Given the description of an element on the screen output the (x, y) to click on. 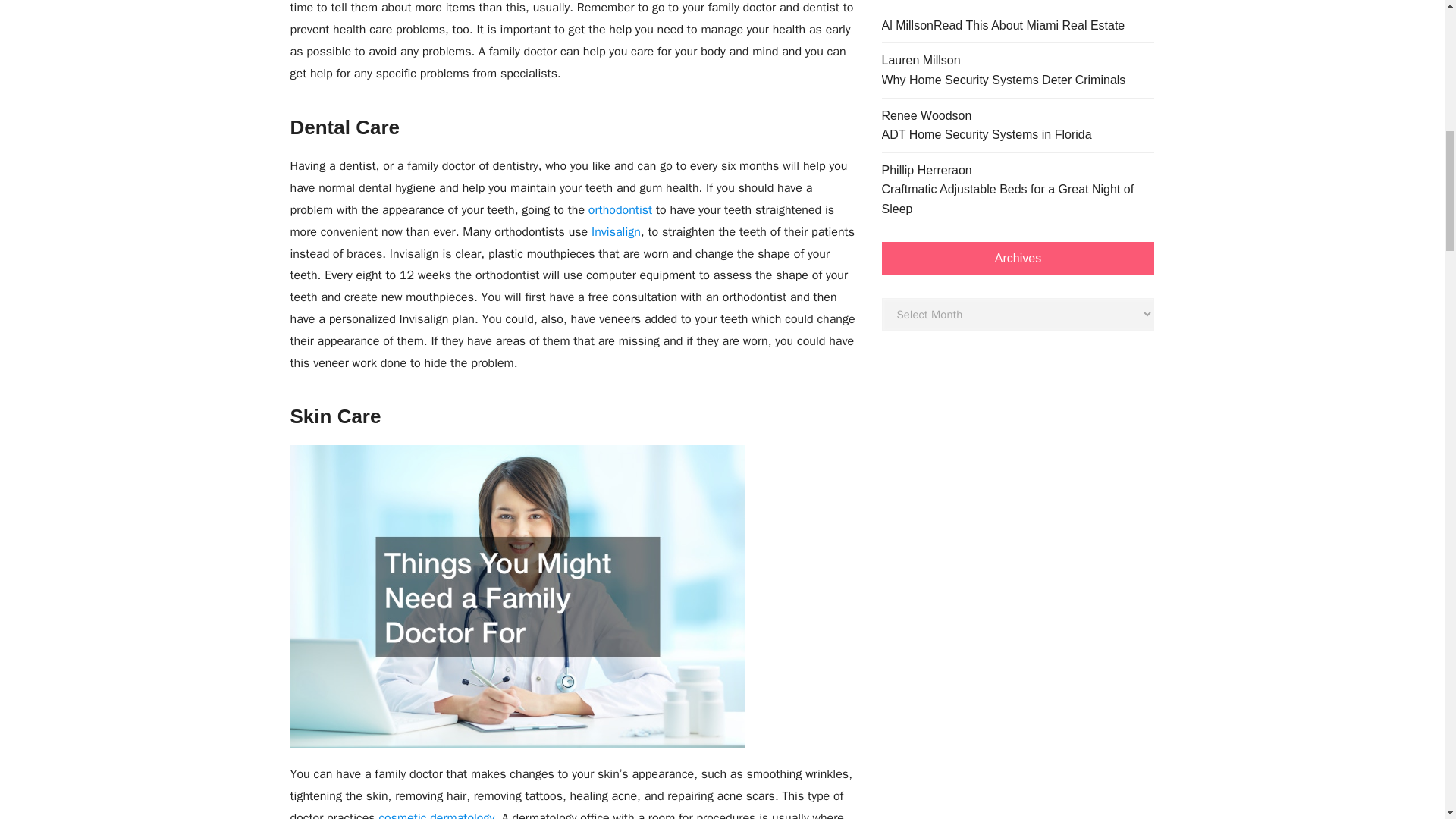
Craftmatic Adjustable Beds for a Great Night of Sleep (1017, 198)
ADT Home Security Systems in Florida (985, 134)
Phillip Herrera (919, 169)
orthodontist (620, 209)
Invisalign (615, 231)
Why Home Security Systems Deter Criminals (1002, 80)
Read This About Miami Real Estate (1028, 25)
Renee Woods (919, 115)
cosmetic dermatology (436, 814)
Al Mills (900, 24)
